Given the description of an element on the screen output the (x, y) to click on. 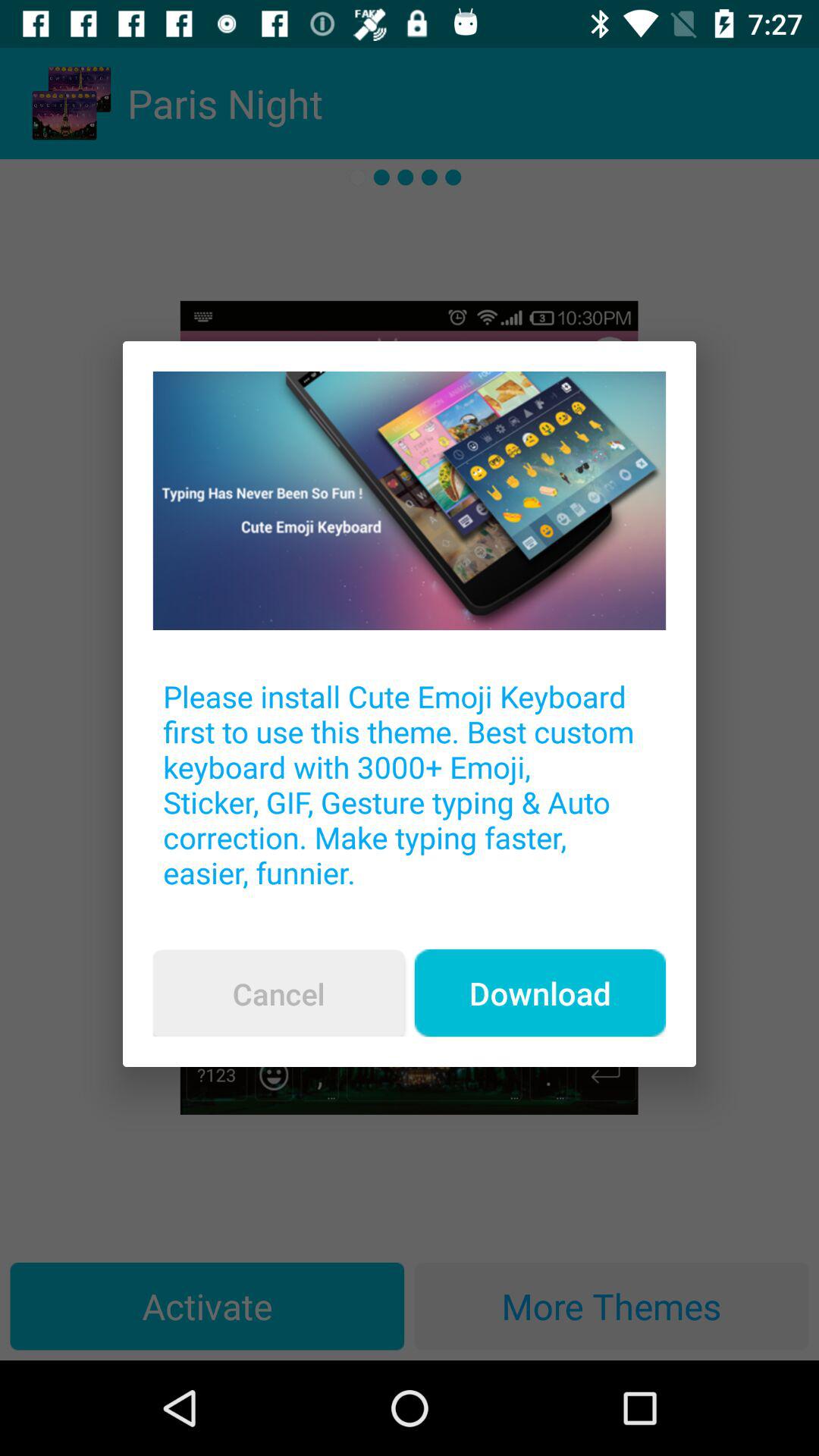
choose download item (540, 992)
